Given the description of an element on the screen output the (x, y) to click on. 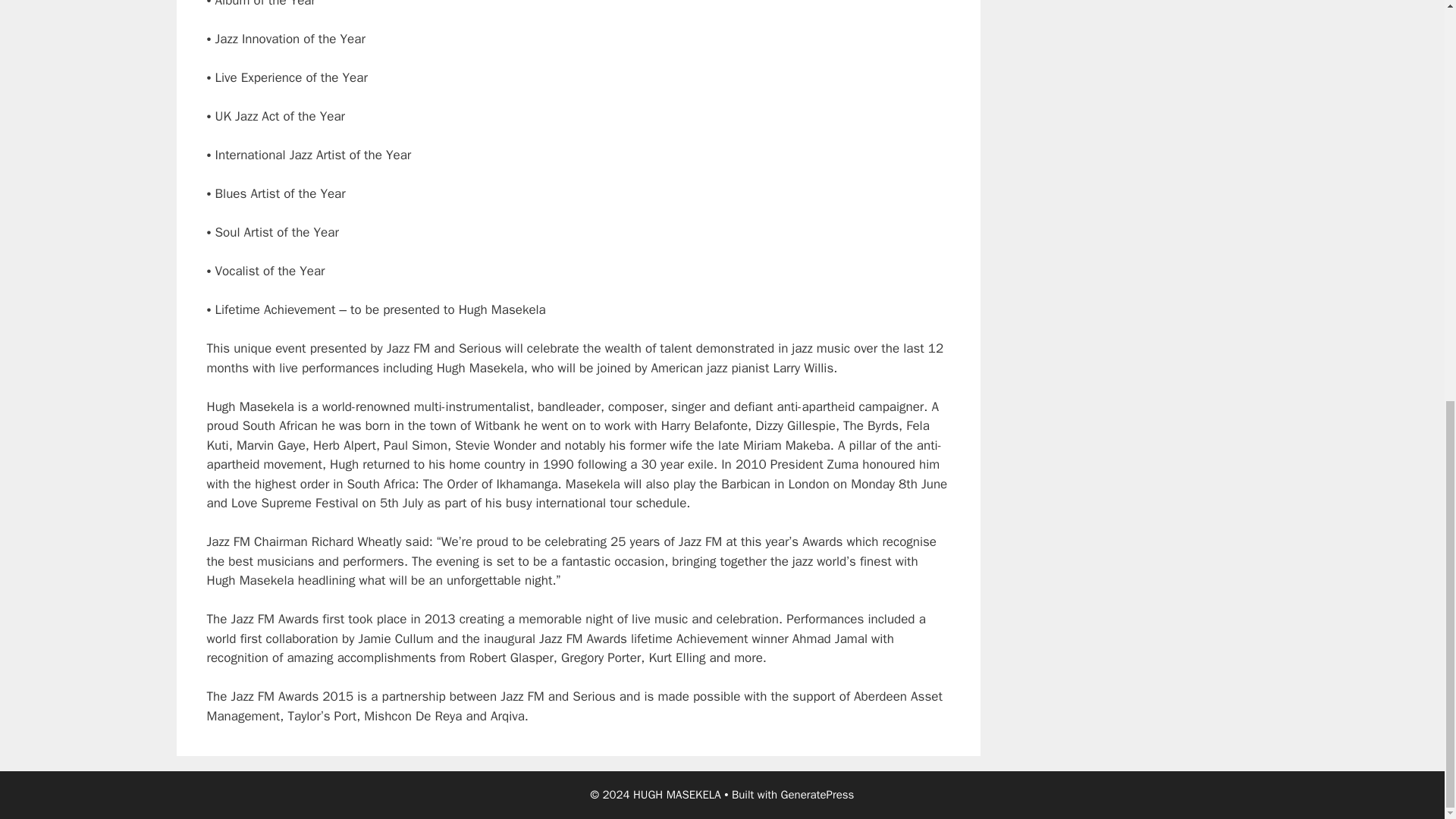
GeneratePress (817, 794)
